Given the description of an element on the screen output the (x, y) to click on. 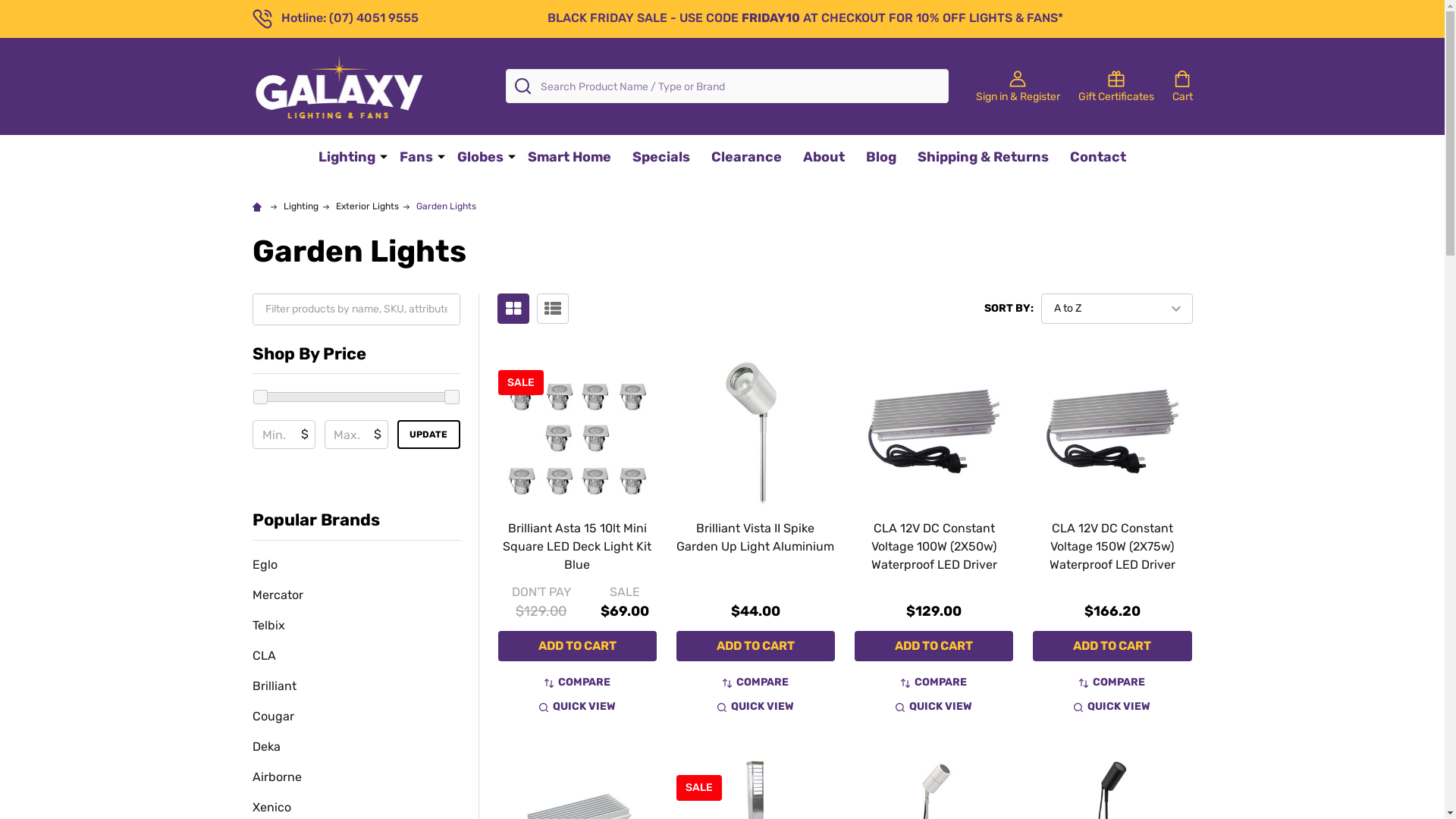
Sign in & Register Element type: text (1017, 86)
Galaxy Lighting & Fans Element type: hover (338, 86)
Smart Home Element type: text (569, 156)
More Element type: hover (511, 155)
Deka Element type: text (355, 746)
Lighting Element type: text (343, 156)
ADD TO CART Element type: text (755, 645)
Garden Lights Element type: text (445, 205)
COMPARE Element type: text (933, 682)
Brilliant Element type: text (355, 686)
Exterior Lights Element type: text (366, 205)
COMPARE Element type: text (1111, 682)
Blog Element type: text (880, 156)
Shipping & Returns Element type: text (982, 156)
Eglo Element type: text (355, 564)
Fans Element type: text (412, 156)
ADD TO CART Element type: text (933, 645)
Brilliant Vista II Spike Garden Up Light Aluminium Element type: text (755, 536)
Airborne Element type: text (355, 777)
Telbix Element type: text (355, 625)
Gift Certificates Element type: text (1116, 86)
Contact Element type: text (1097, 156)
QUICK VIEW Element type: text (1111, 706)
Specials Element type: text (661, 156)
ADD TO CART Element type: text (1111, 645)
Bulk Order Element type: hover (552, 308)
COMPARE Element type: text (755, 682)
ADD TO CART Element type: text (576, 645)
Clearance Element type: text (746, 156)
Cougar Element type: text (355, 716)
Brilliant Asta 15 10lt Mini Square LED Deck Light Kit Blue Element type: hover (576, 430)
QUICK VIEW Element type: text (933, 706)
Mercator Element type: text (355, 595)
UPDATE Element type: text (428, 434)
QUICK VIEW Element type: text (577, 706)
Hotline: (07) 4051 9555 Element type: text (334, 17)
Globes Element type: text (476, 156)
Brilliant Asta 15 10lt Mini Square LED Deck Light Kit Blue Element type: text (576, 545)
Grid Element type: hover (512, 308)
More Element type: hover (383, 155)
More Element type: hover (441, 155)
Brilliant Vista II Spike Garden Up Light Aluminium Element type: hover (755, 430)
CLA Element type: text (355, 655)
Home Element type: hover (258, 205)
QUICK VIEW Element type: text (755, 706)
COMPARE Element type: text (577, 682)
About Element type: text (823, 156)
Lighting Element type: text (300, 205)
Cart Element type: text (1182, 86)
